Given the description of an element on the screen output the (x, y) to click on. 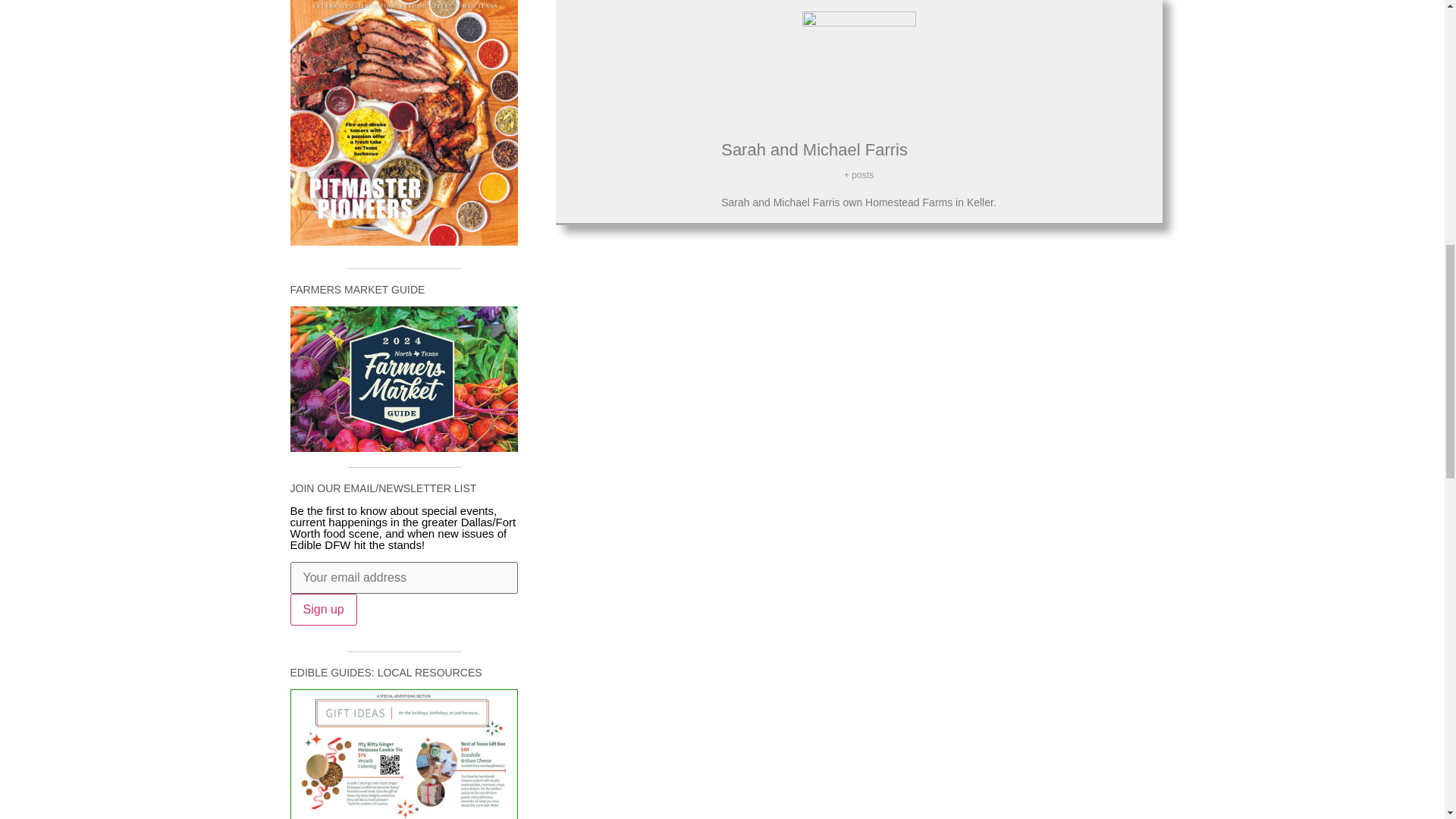
Sign up (322, 609)
